Given the description of an element on the screen output the (x, y) to click on. 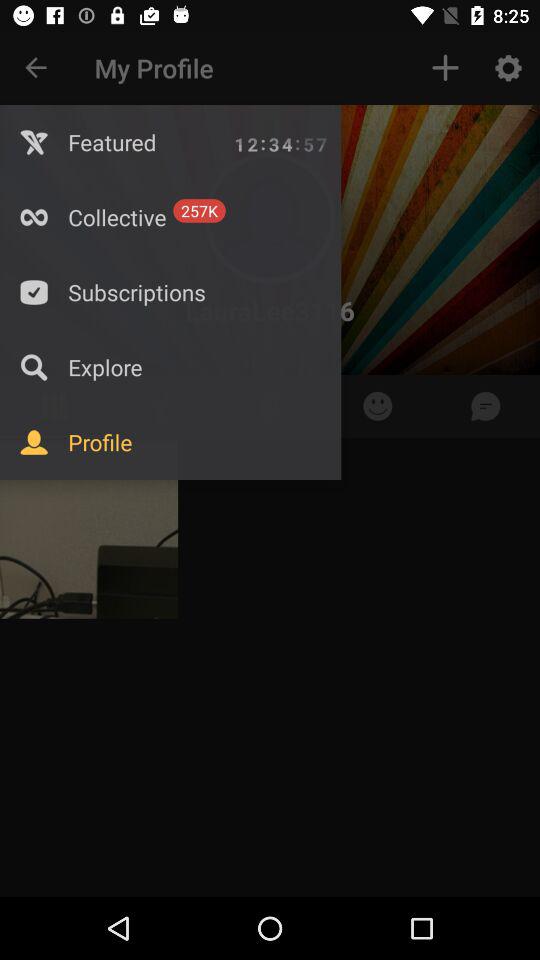
press the item to the right of my profile (444, 68)
